Given the description of an element on the screen output the (x, y) to click on. 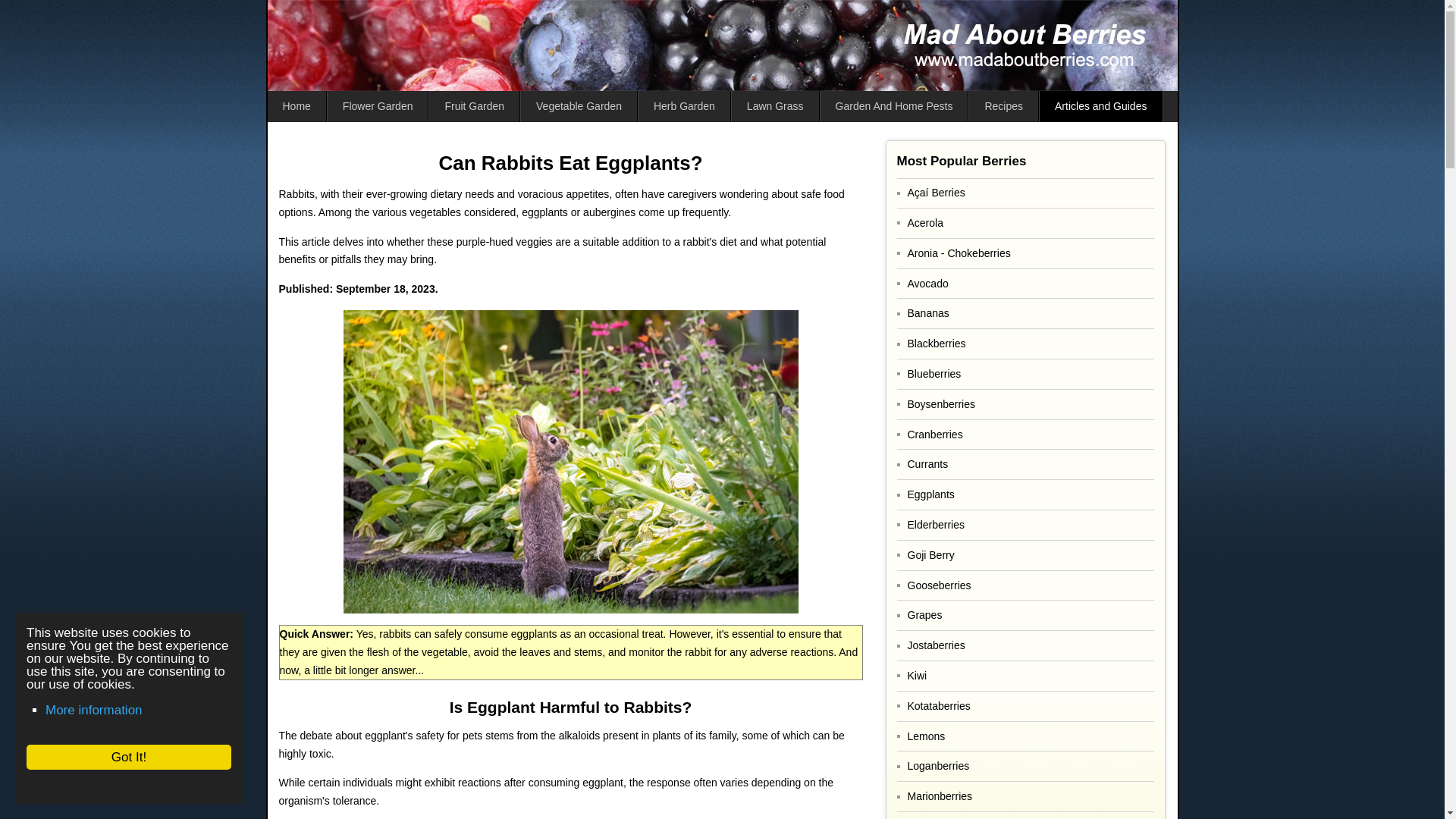
Blackberries (1025, 343)
Grapes (1025, 614)
Recipes (1004, 106)
More information (79, 709)
Boysenberries (1025, 404)
Garden And Home Pests (895, 106)
Lawn Grass (775, 106)
Got It! (115, 756)
Avocado (1025, 283)
Gooseberries (1025, 585)
Aronia - Chokeberries (1025, 253)
Home (296, 106)
Herb Garden (684, 106)
Vegetable Garden (579, 106)
Bananas (1025, 313)
